Given the description of an element on the screen output the (x, y) to click on. 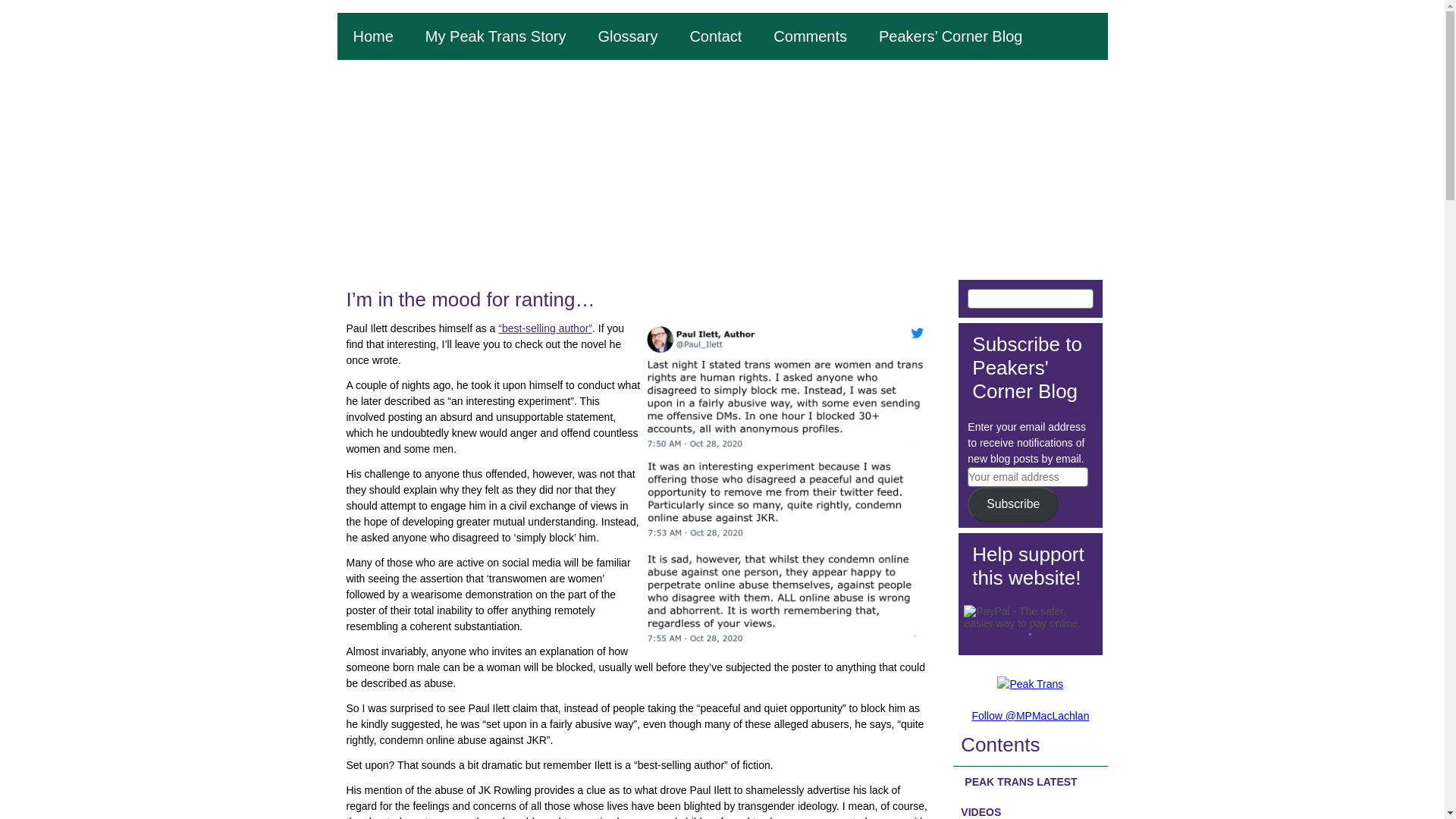
Contact (714, 36)
PEAK TRANS LATEST VIDEOS (1029, 792)
Home (372, 36)
Comments (810, 36)
Contact (714, 36)
Glossary (626, 36)
Glossary (626, 36)
My Peak Trans Story (495, 36)
My Peak Trans Story (495, 36)
Home (372, 36)
